Given the description of an element on the screen output the (x, y) to click on. 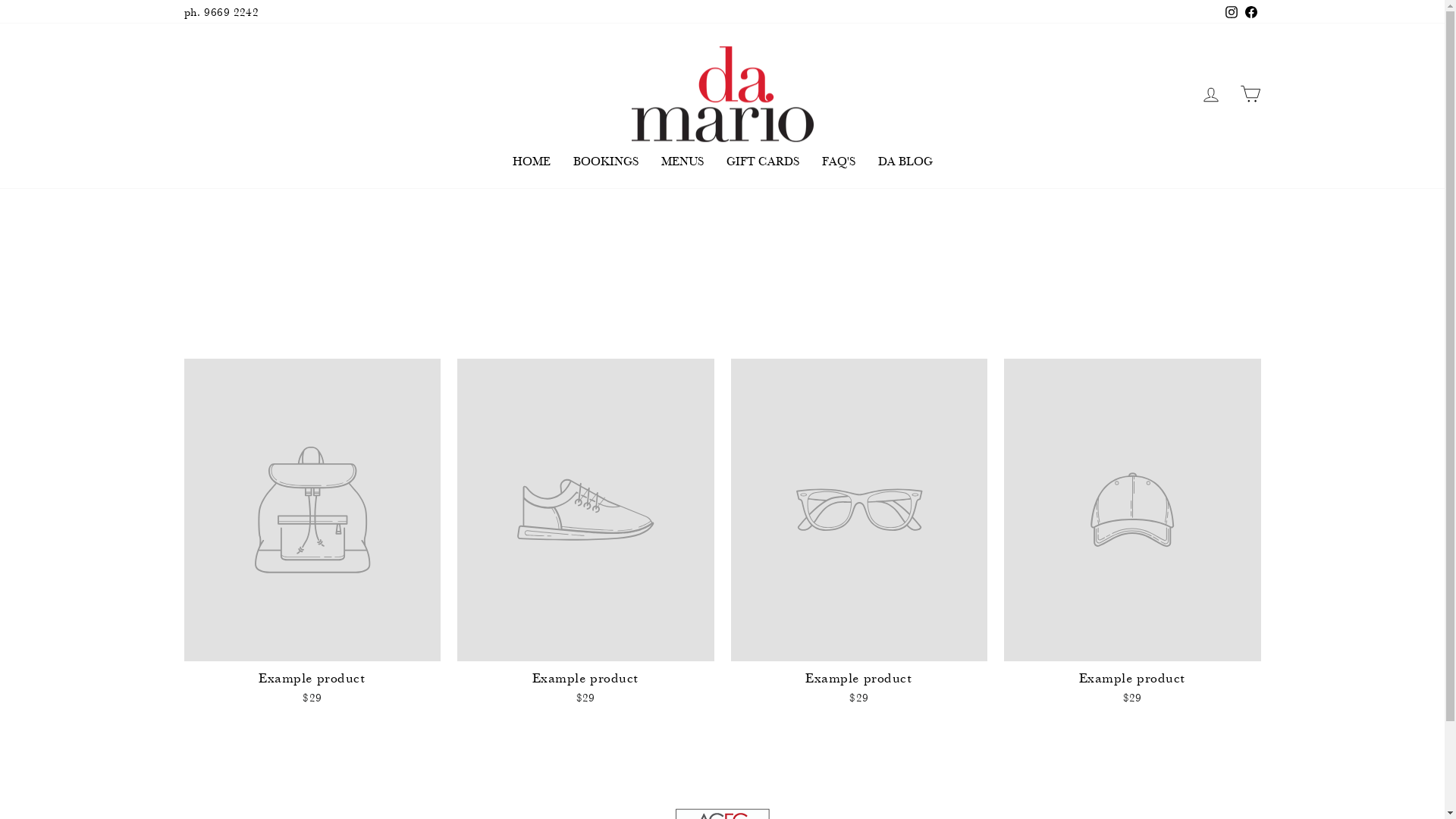
Facebook Element type: text (1250, 11)
Example product
$29 Element type: text (311, 533)
HOME Element type: text (530, 160)
Example product
$29 Element type: text (585, 533)
Instagram Element type: text (1230, 11)
Example product
$29 Element type: text (859, 533)
CART Element type: text (1249, 94)
Example product
$29 Element type: text (1132, 533)
ph. 9669 2242 Element type: text (220, 11)
LOG IN Element type: text (1210, 94)
FAQ'S Element type: text (837, 160)
GIFT CARDS Element type: text (761, 160)
DA BLOG Element type: text (904, 160)
